Given the description of an element on the screen output the (x, y) to click on. 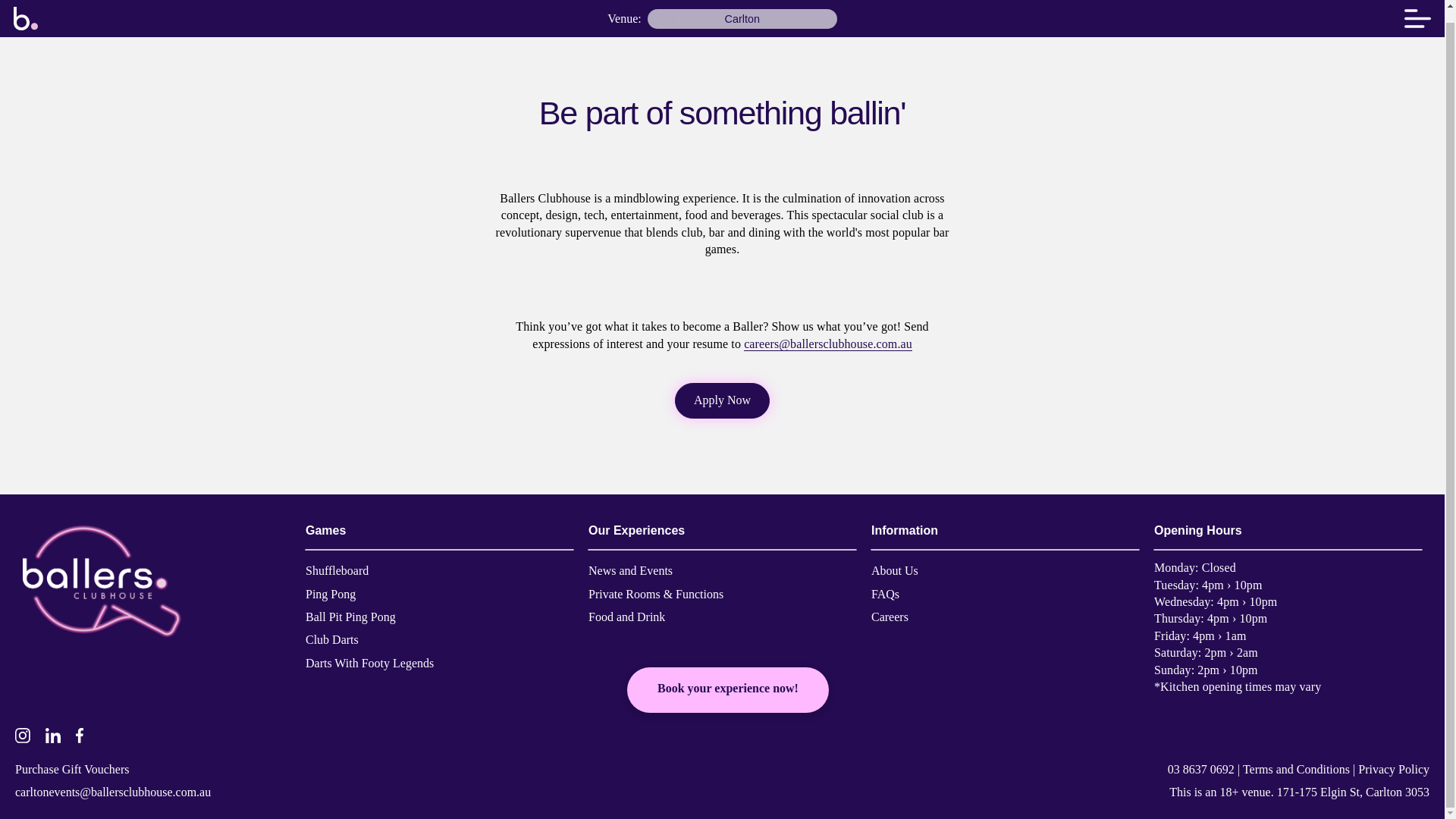
Apply Now (722, 400)
03 8637 0692 (1200, 759)
Darts With Footy Legends (369, 653)
Purchase Gift Vouchers (71, 759)
Privacy Policy (1393, 759)
Apply Now (722, 399)
Terms and Conditions (1296, 759)
FAQs (884, 584)
Ball Pit Ping Pong (350, 607)
Food and Drink (626, 607)
